Given the description of an element on the screen output the (x, y) to click on. 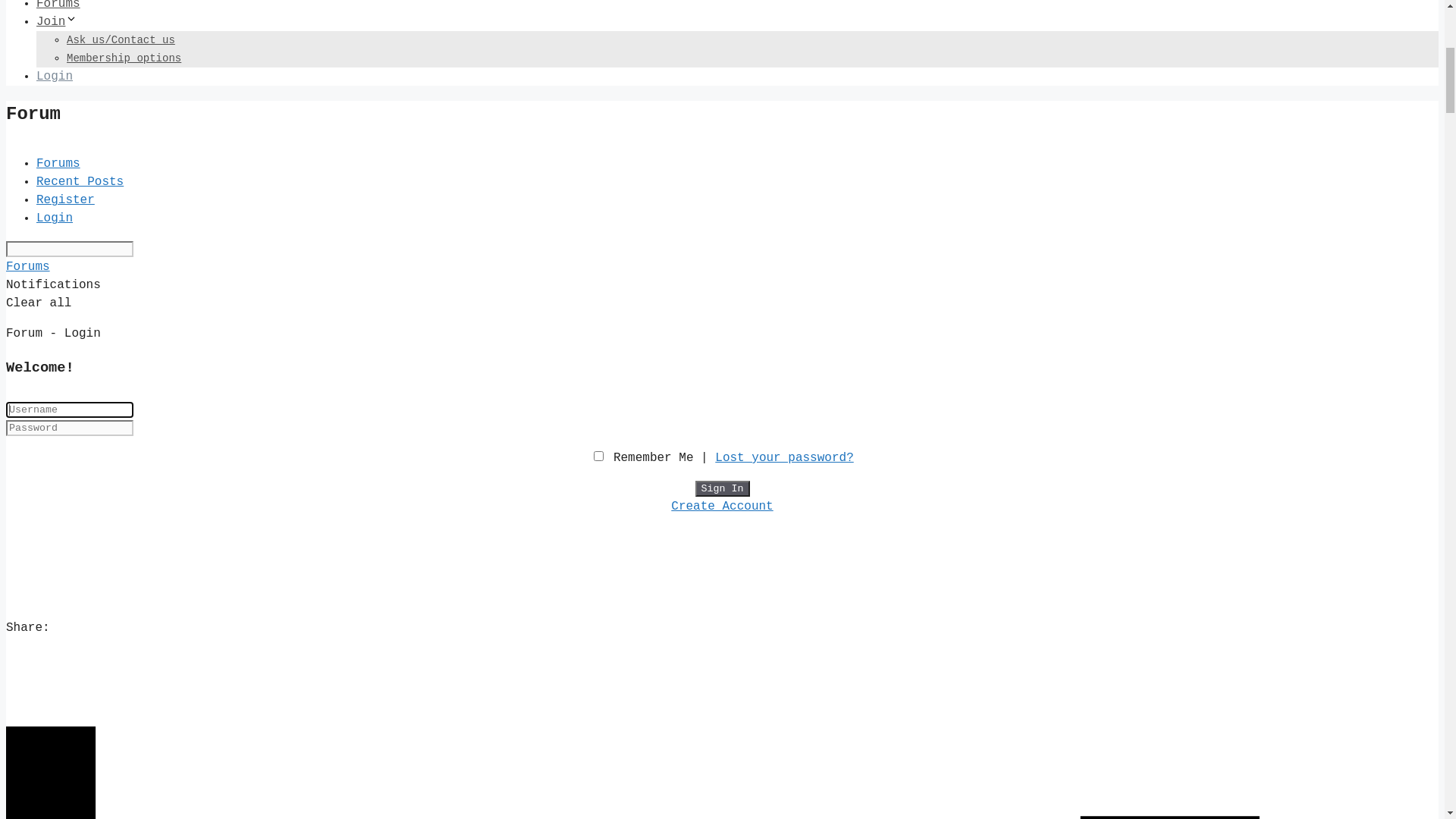
Code of Conduct Element type: text (144, 191)
News & Events Element type: text (83, 118)
Manufacturers Element type: text (107, 410)
Queensland Hovercraft Element type: text (163, 319)
Forums Element type: text (28, 727)
Menu Element type: text (34, 69)
Skip to content Element type: text (60, 14)
Login Element type: text (54, 679)
Gallery Element type: text (61, 446)
Login Element type: text (54, 537)
Ask us/Contact us Element type: text (120, 501)
About Element type: text (60, 137)
Recent Posts Element type: text (79, 642)
Hovercraft Club of South Australia Element type: text (205, 264)
Branches, Clubs and Groups Element type: text (154, 246)
Updating Forum Notifications Element type: text (216, 228)
How a hovercraft works Element type: text (136, 355)
What we do Element type: text (128, 173)
Join Element type: text (56, 482)
Worldwide Element type: text (95, 428)
Home Element type: text (50, 100)
Hovercraft Club Victoria Element type: text (173, 282)
Menu Element type: text (34, 50)
Register Element type: text (65, 661)
Hovercraft Club of Western Australia Element type: text (211, 300)
Forums Element type: text (58, 464)
About the AHA Element type: text (113, 155)
How the web site works Element type: text (172, 209)
Forums Element type: text (58, 624)
Recreational Hoversport Element type: text (139, 337)
Membership options Element type: text (123, 519)
